Given the description of an element on the screen output the (x, y) to click on. 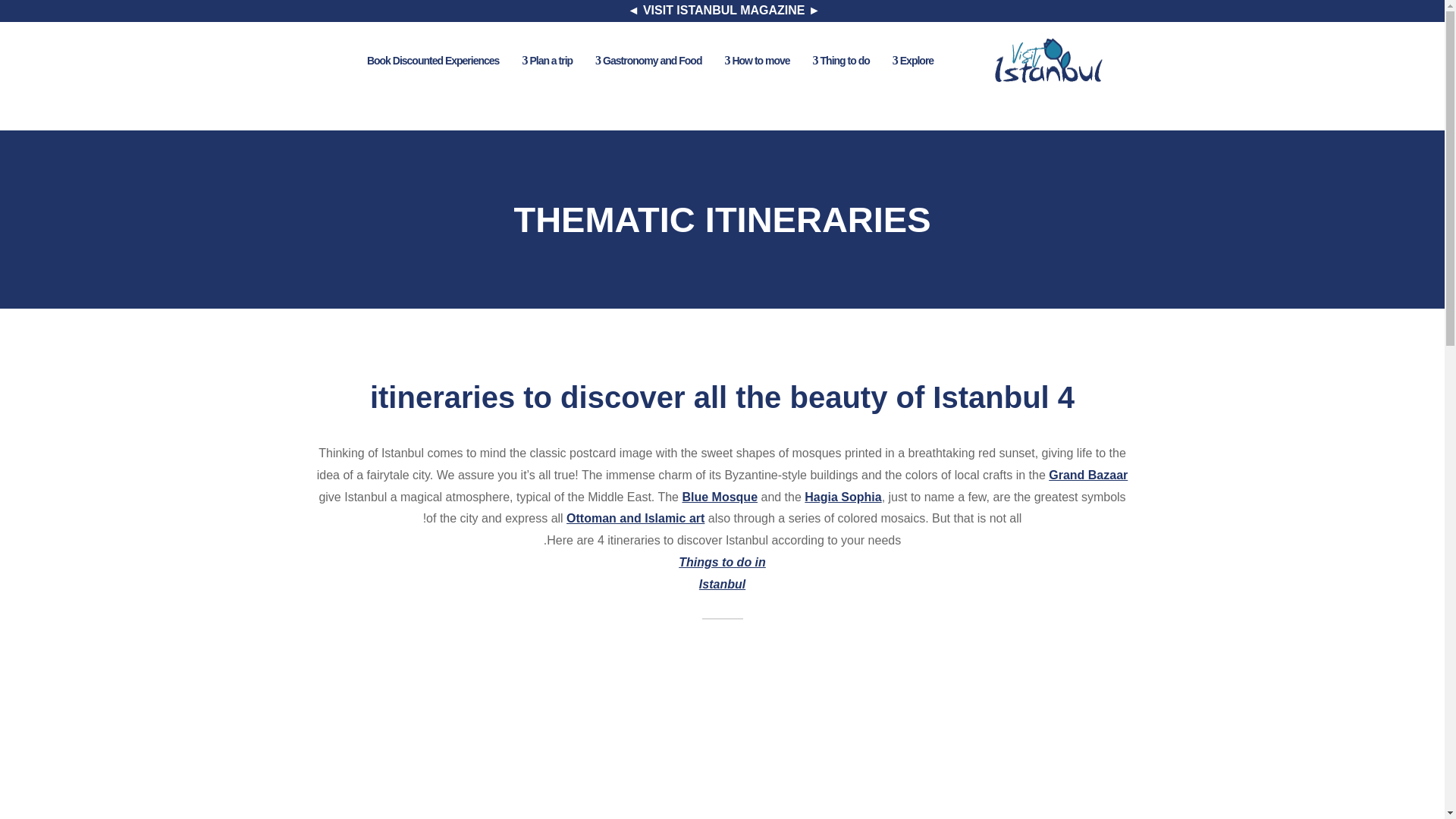
Plan a trip (544, 60)
Explore (910, 60)
Gastronomy and Food (645, 60)
Thing to do (839, 60)
How to move (753, 60)
